Given the description of an element on the screen output the (x, y) to click on. 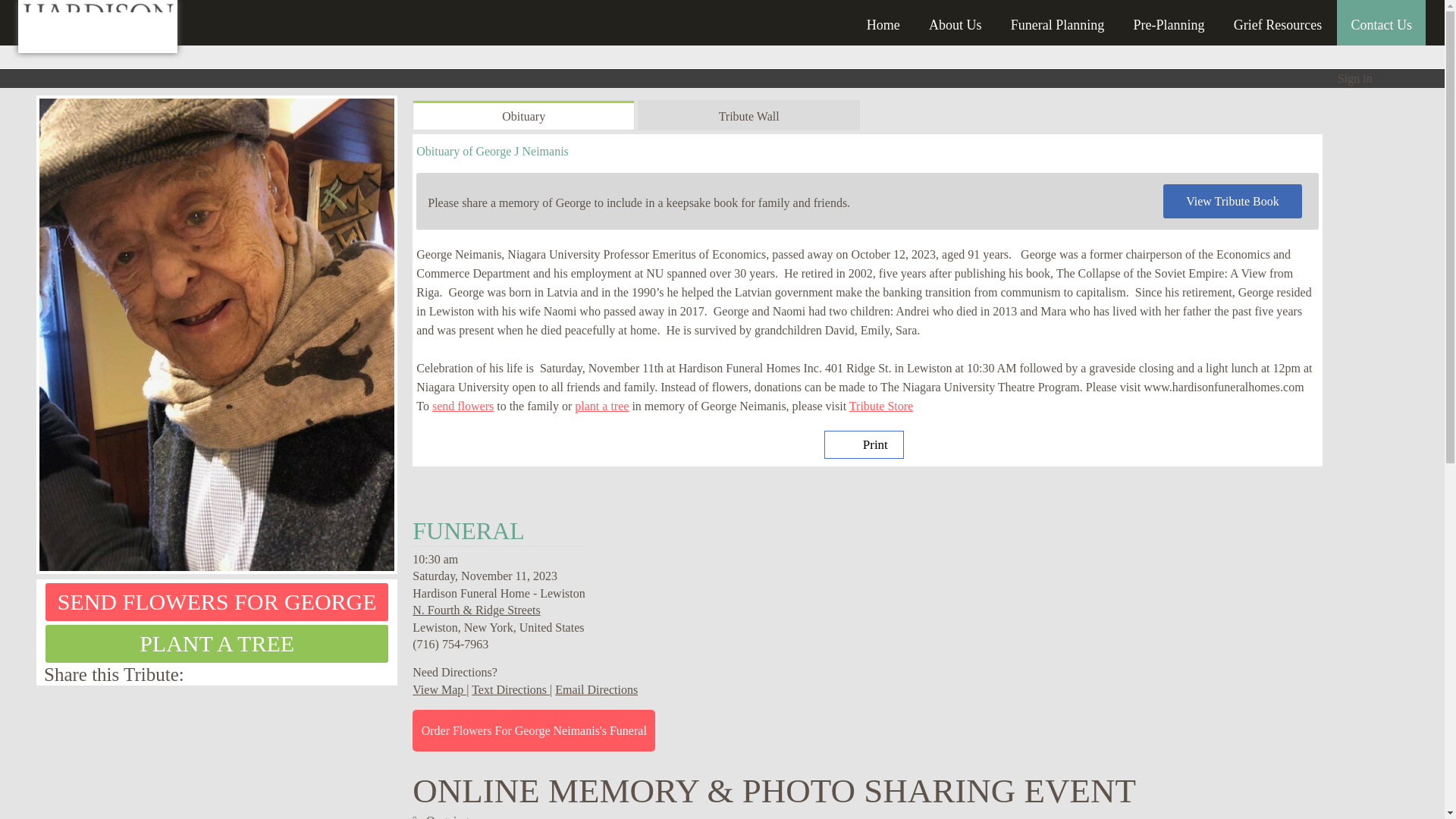
Plant A Tree (216, 643)
Print (864, 444)
Receive Notifications (348, 673)
Grief Resources (1277, 20)
Sign in (1355, 78)
SEND FLOWERS FOR GEORGE (216, 601)
Home (883, 20)
Facebook (385, 673)
About Us (955, 20)
Funeral Planning (1057, 20)
